Given the description of an element on the screen output the (x, y) to click on. 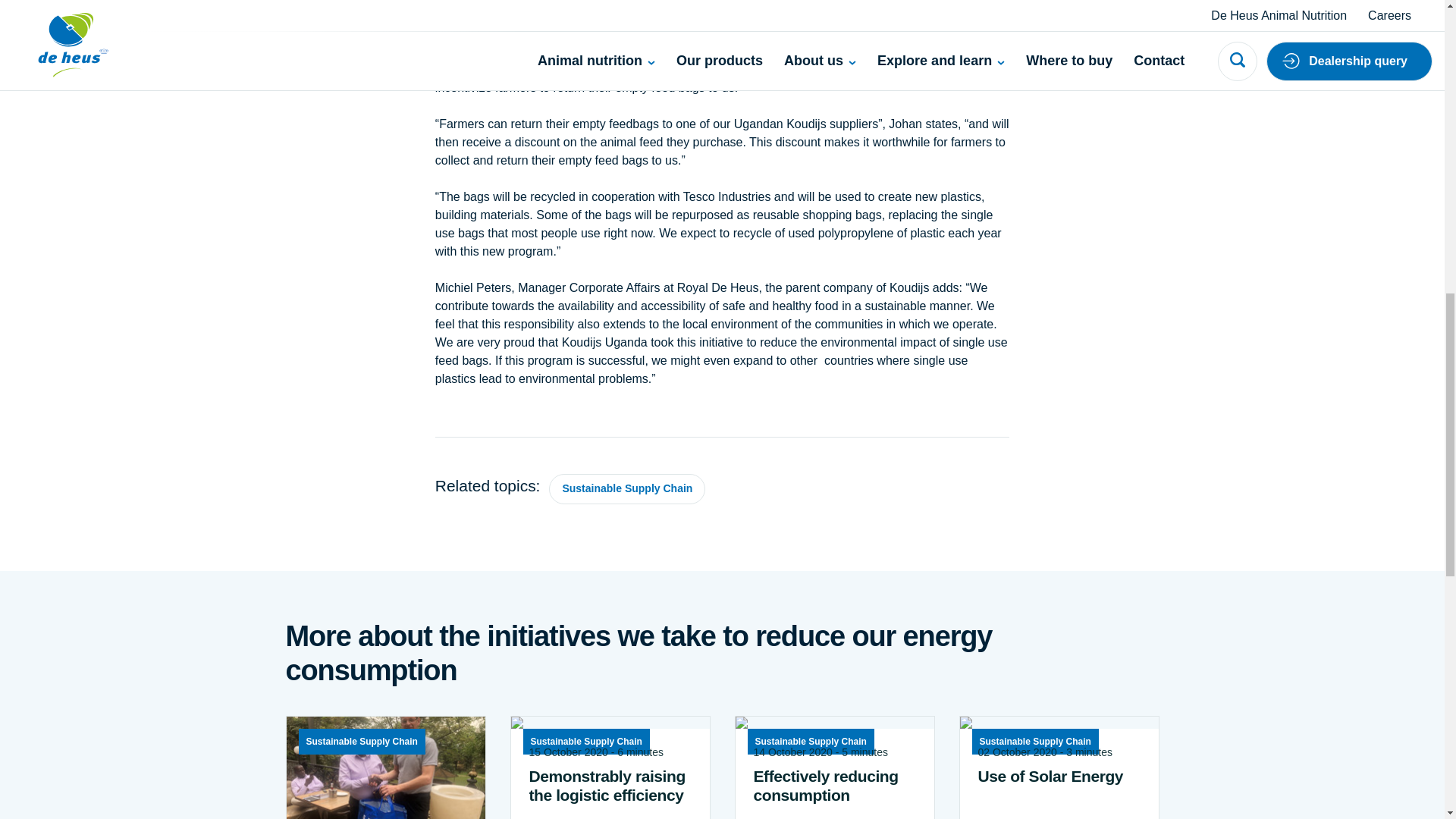
Use of Solar Energy (1059, 775)
Demonstrably raising the logistic efficiency (610, 785)
Effectively reducing consumption (834, 785)
